Given the description of an element on the screen output the (x, y) to click on. 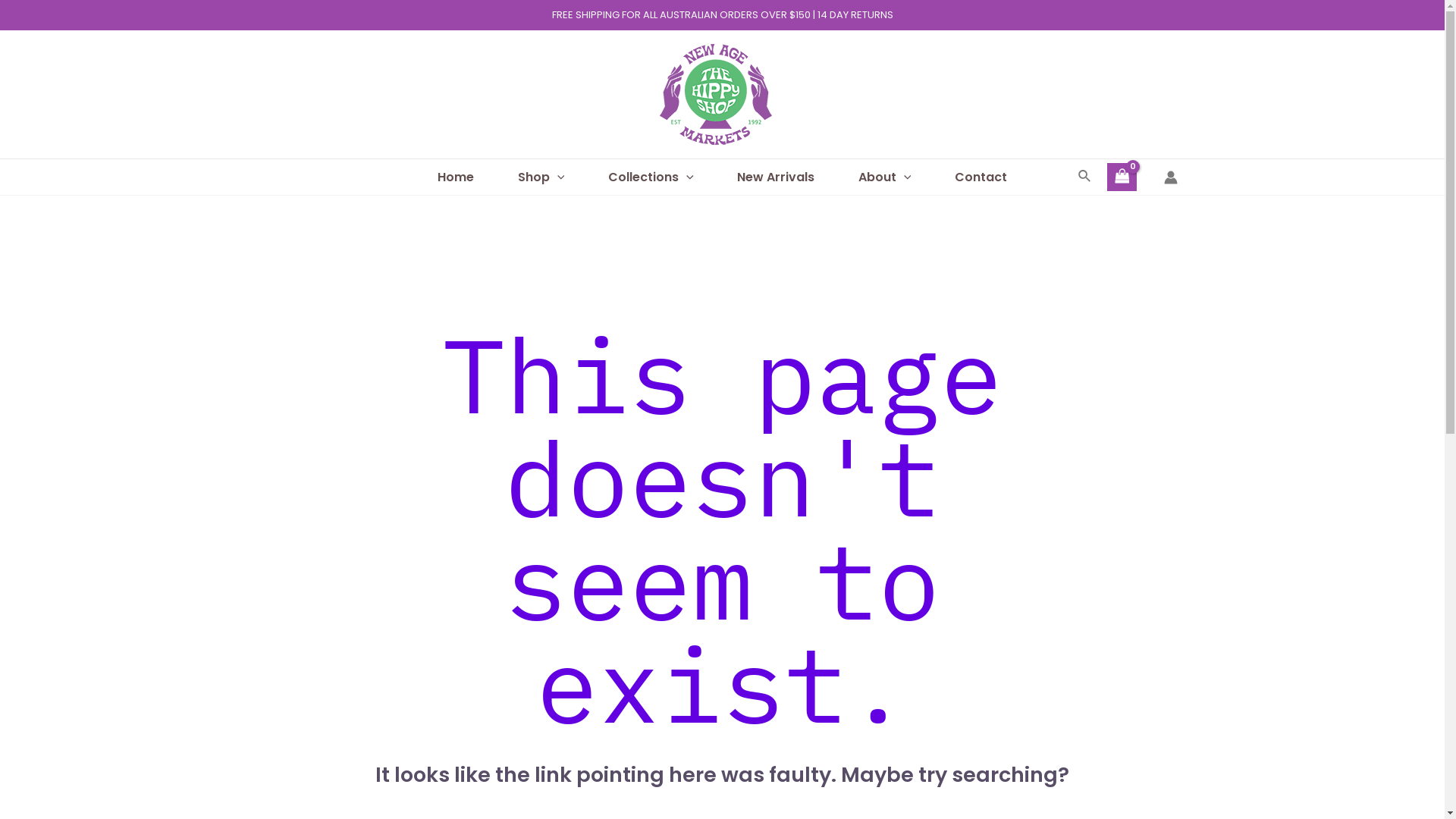
Shop Element type: text (540, 176)
Collections Element type: text (650, 176)
About Element type: text (884, 176)
Contact Element type: text (980, 176)
New Arrivals Element type: text (775, 176)
Home Element type: text (455, 176)
